Given the description of an element on the screen output the (x, y) to click on. 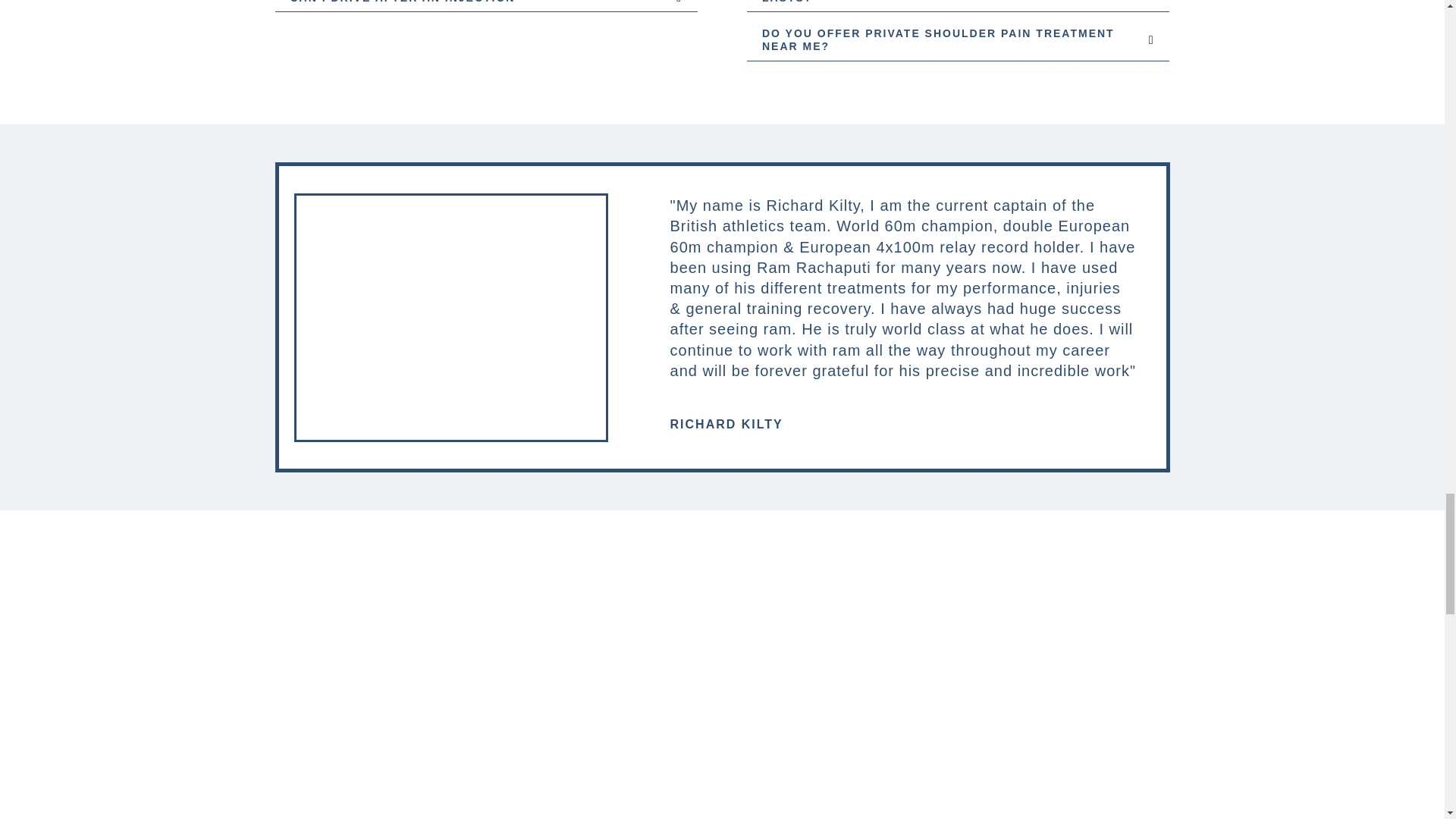
HCPC (721, 710)
CSP (1011, 708)
